Given the description of an element on the screen output the (x, y) to click on. 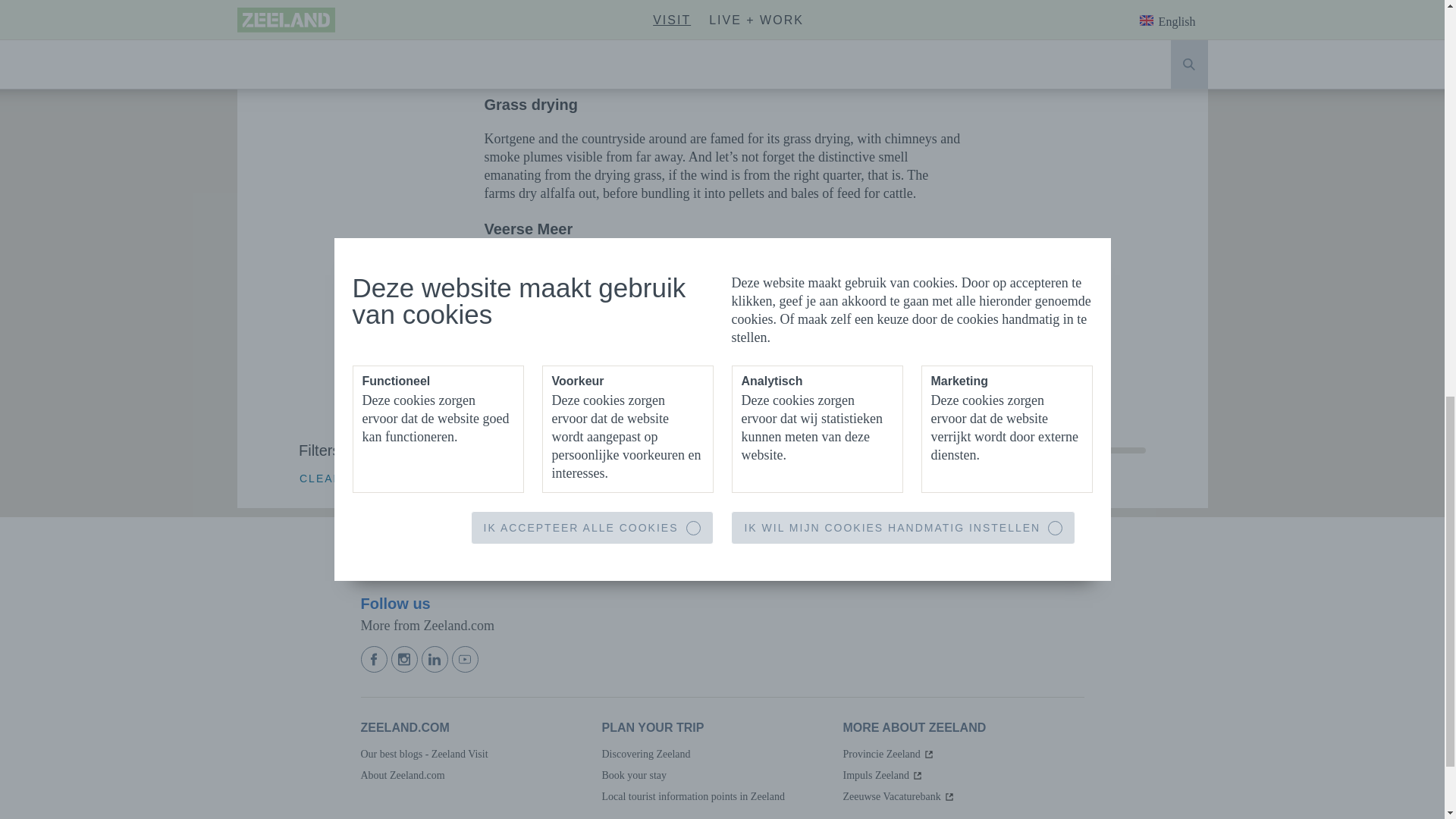
Bekijk onze Youtube pagina (466, 659)
Link wordt geopend in een nieuw venster (899, 796)
Bekijk onze Instagram pagina (406, 659)
Bekijk onze Facebook pagina (376, 659)
Link wordt geopend in een nieuw venster (888, 754)
Link wordt geopend in een nieuw venster (883, 775)
Bekijk onze LinkedIn pagina (436, 659)
